Given the description of an element on the screen output the (x, y) to click on. 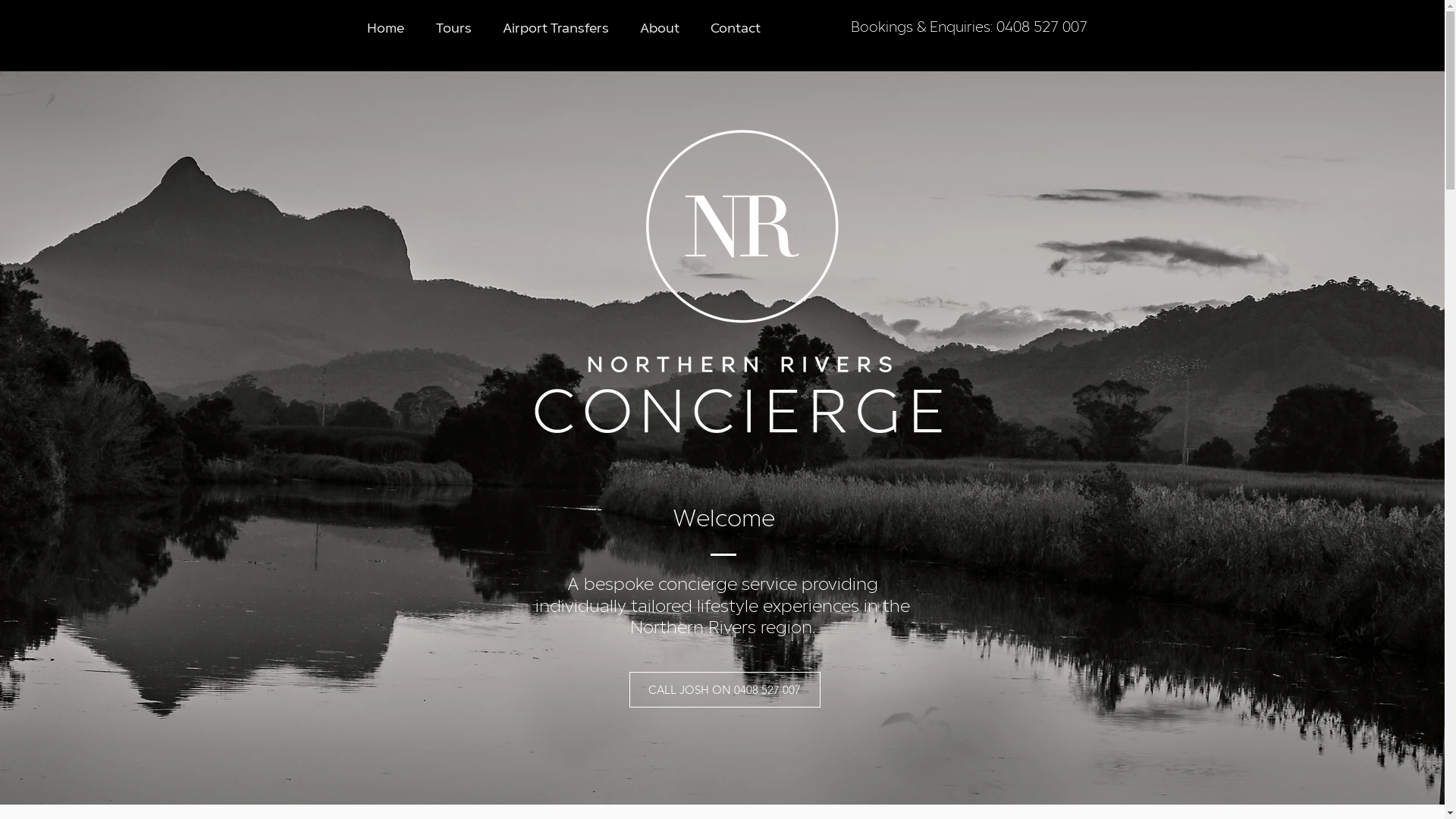
About Element type: text (659, 29)
Contact Element type: text (734, 29)
CALL JOSH ON 0408 527 007 Element type: text (724, 689)
Tours Element type: text (453, 29)
Home Element type: text (384, 29)
